Given the description of an element on the screen output the (x, y) to click on. 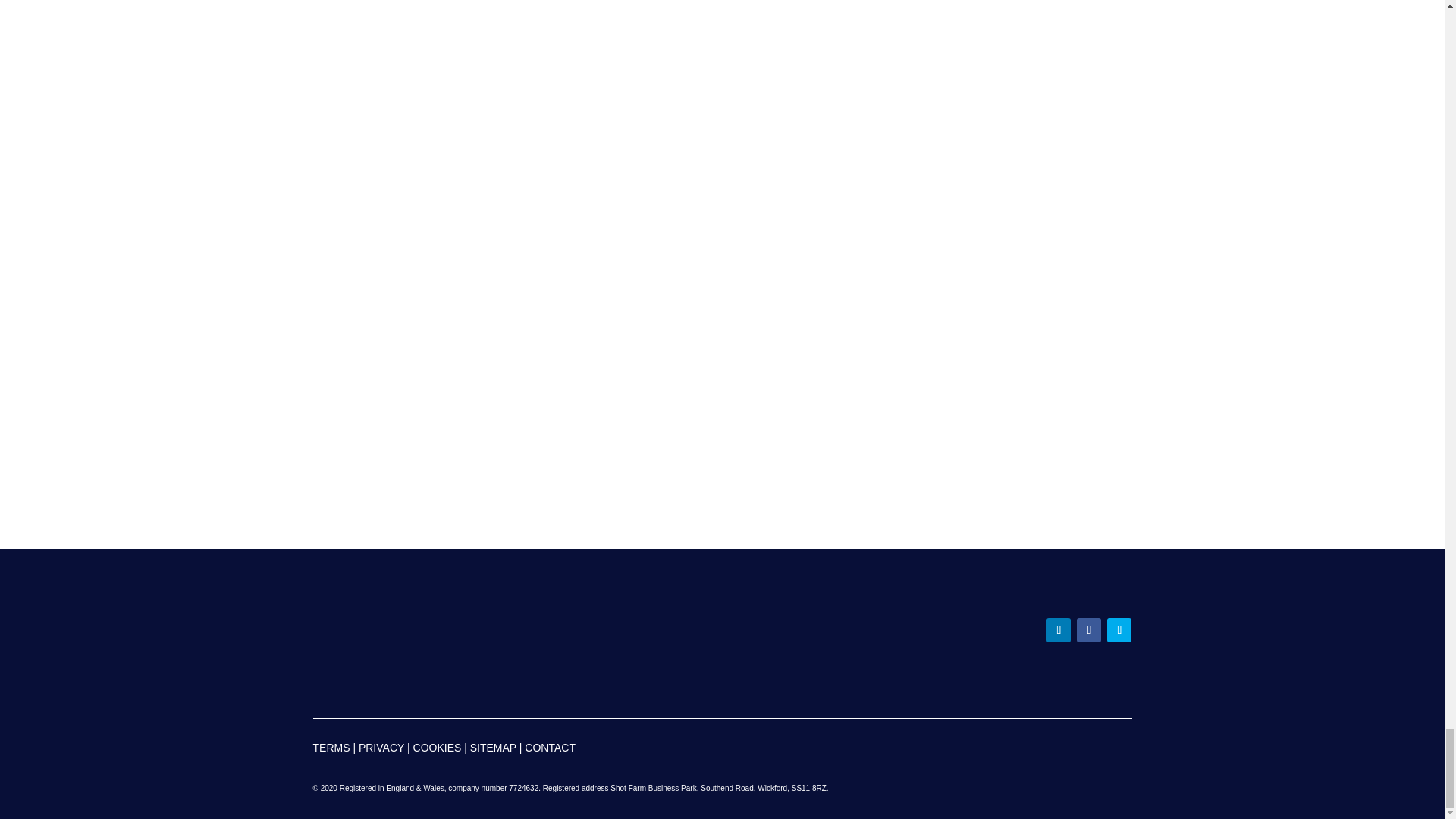
Follow on Facebook (1088, 630)
View our Sitemap (493, 747)
View our Cookie Policy (437, 747)
View our Privacy Policy (381, 747)
View our Contact (549, 747)
View our Terms (331, 747)
logo-moving-footer (376, 632)
Follow on Twitter (1118, 630)
Follow on LinkedIn (1058, 630)
logo-logistics-footer (548, 632)
